Given the description of an element on the screen output the (x, y) to click on. 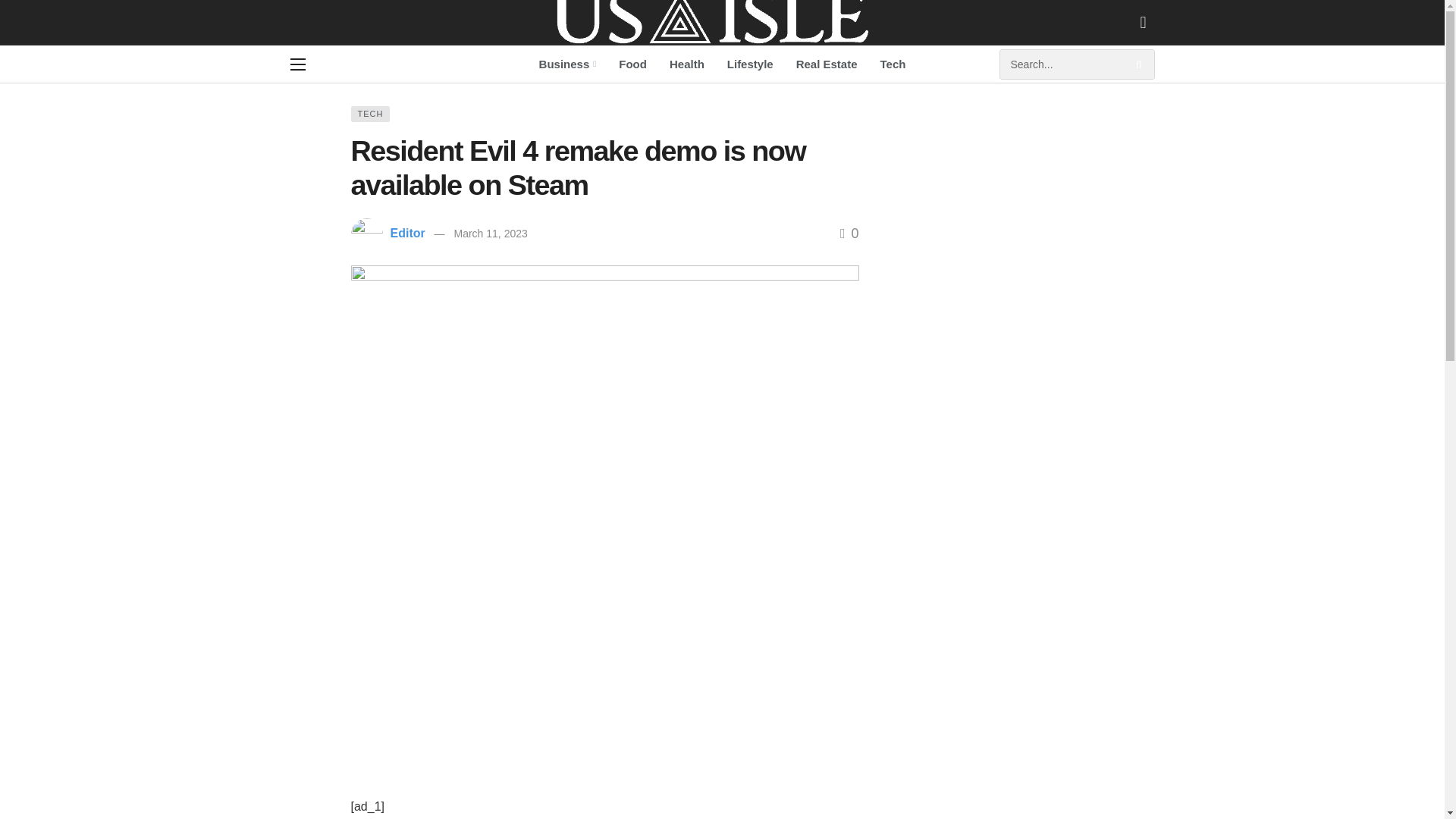
Tech (893, 63)
TECH (370, 114)
0 (849, 233)
Food (632, 63)
March 11, 2023 (489, 233)
Editor (407, 232)
Health (687, 63)
Real Estate (826, 63)
Business (567, 63)
Lifestyle (750, 63)
